Given the description of an element on the screen output the (x, y) to click on. 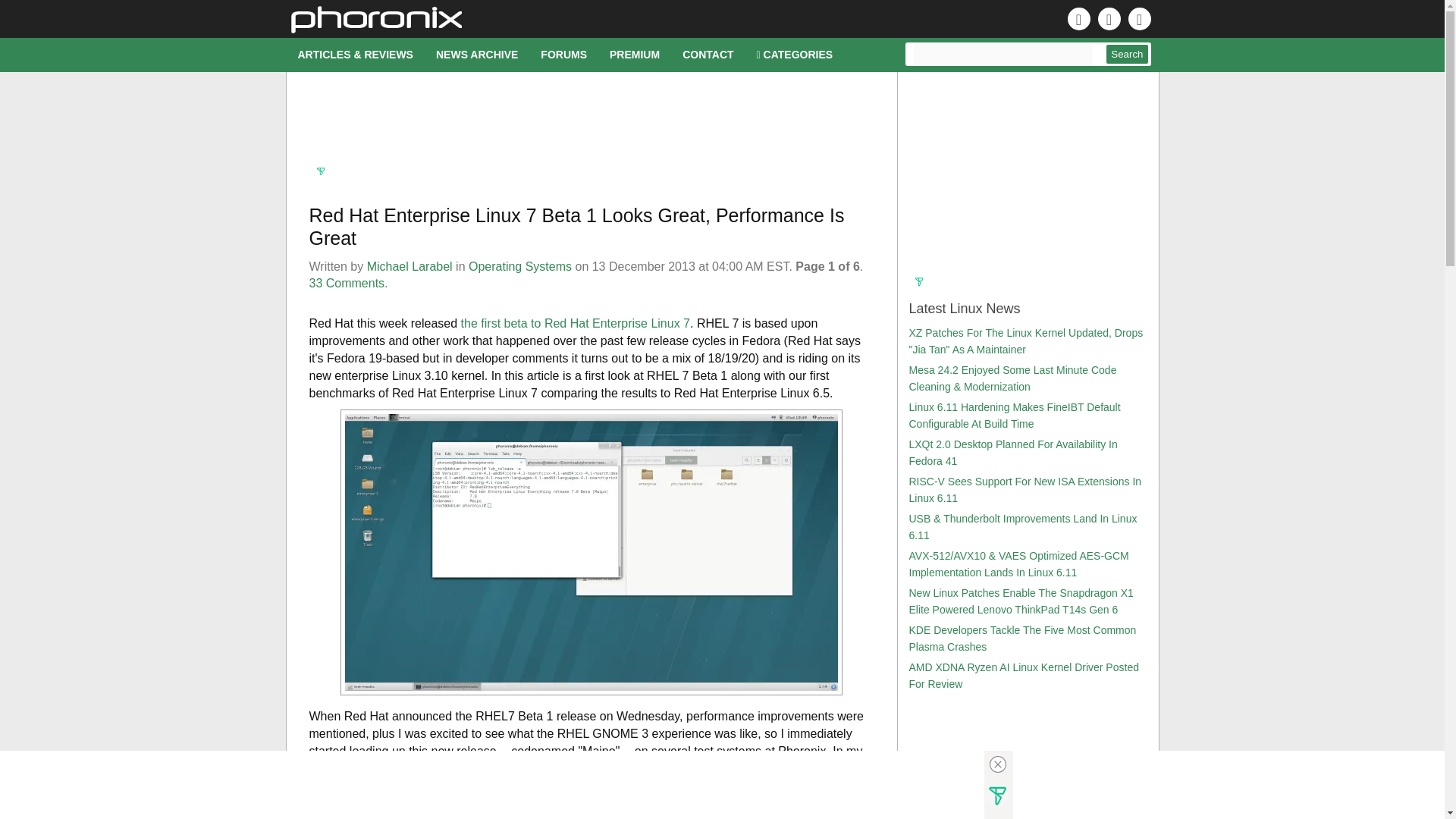
FORUMS (563, 54)
Search (1126, 54)
3rd party ad content (708, 785)
33 Comments (346, 282)
Michael Larabel (409, 266)
the first beta to Red Hat Enterprise Linux 7 (575, 323)
Search (1126, 54)
3rd party ad content (1026, 177)
3rd party ad content (591, 128)
Operating Systems (520, 266)
3rd party ad content (1026, 765)
NEWS ARCHIVE (477, 54)
PREMIUM (634, 54)
CONTACT (707, 54)
